Given the description of an element on the screen output the (x, y) to click on. 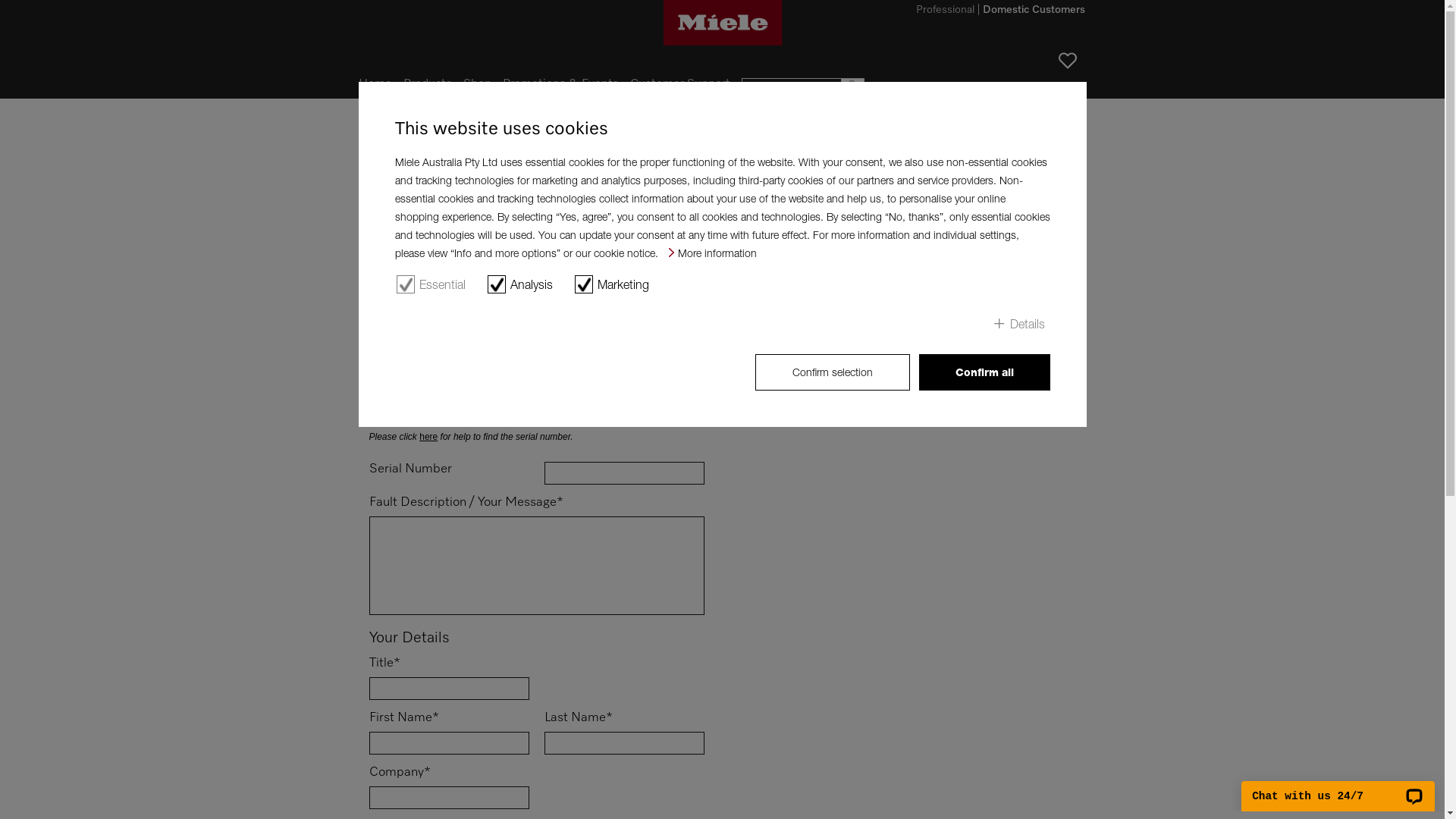
Professional Element type: text (945, 11)
Promotions & Events Element type: text (560, 84)
Shop Element type: text (476, 84)
Facebook Element type: hover (393, 140)
here Element type: text (428, 436)
Wish list Element type: text (1067, 60)
Customer Support Element type: text (679, 84)
online help Element type: text (390, 295)
Domestic Customers Element type: text (1033, 11)
Home Element type: text (373, 127)
Confirm all Element type: text (984, 372)
Confirm selection Element type: text (832, 372)
Home Element type: text (374, 84)
Products Element type: text (427, 84)
More information Element type: text (712, 252)
LiveChat chat widget Element type: hover (1337, 787)
